Given the description of an element on the screen output the (x, y) to click on. 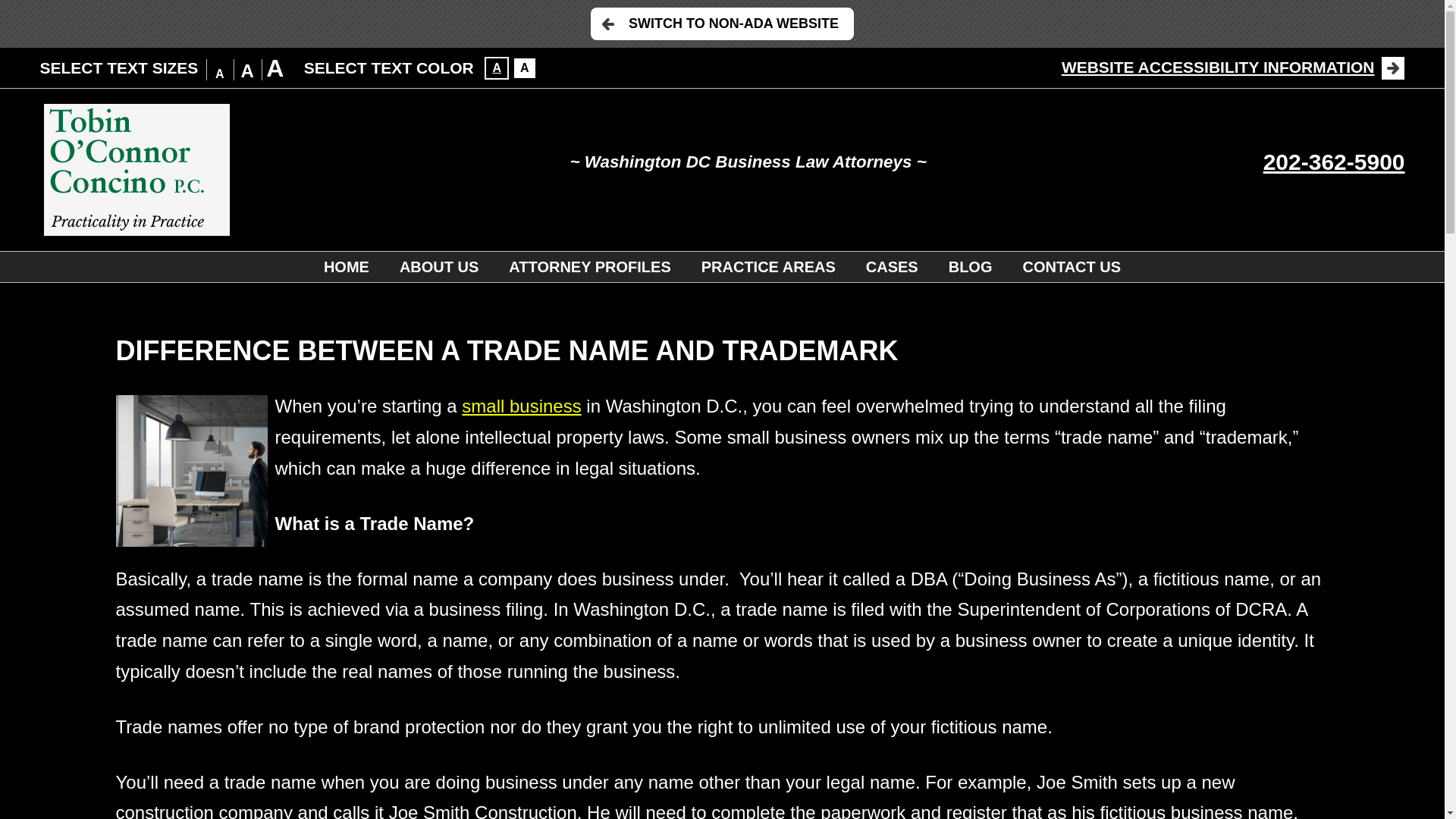
202-362-5900 (1334, 161)
ATTORNEY PROFILES (589, 266)
Click to view external accessibility article (1233, 67)
SWITCH TO NON-ADA WEBSITE (722, 23)
BusOffice (190, 470)
Invert Colors (524, 67)
ABOUT US (438, 266)
HOME (346, 266)
A (524, 67)
WEBSITE ACCESSIBILITY INFORMATION (1233, 67)
